Given the description of an element on the screen output the (x, y) to click on. 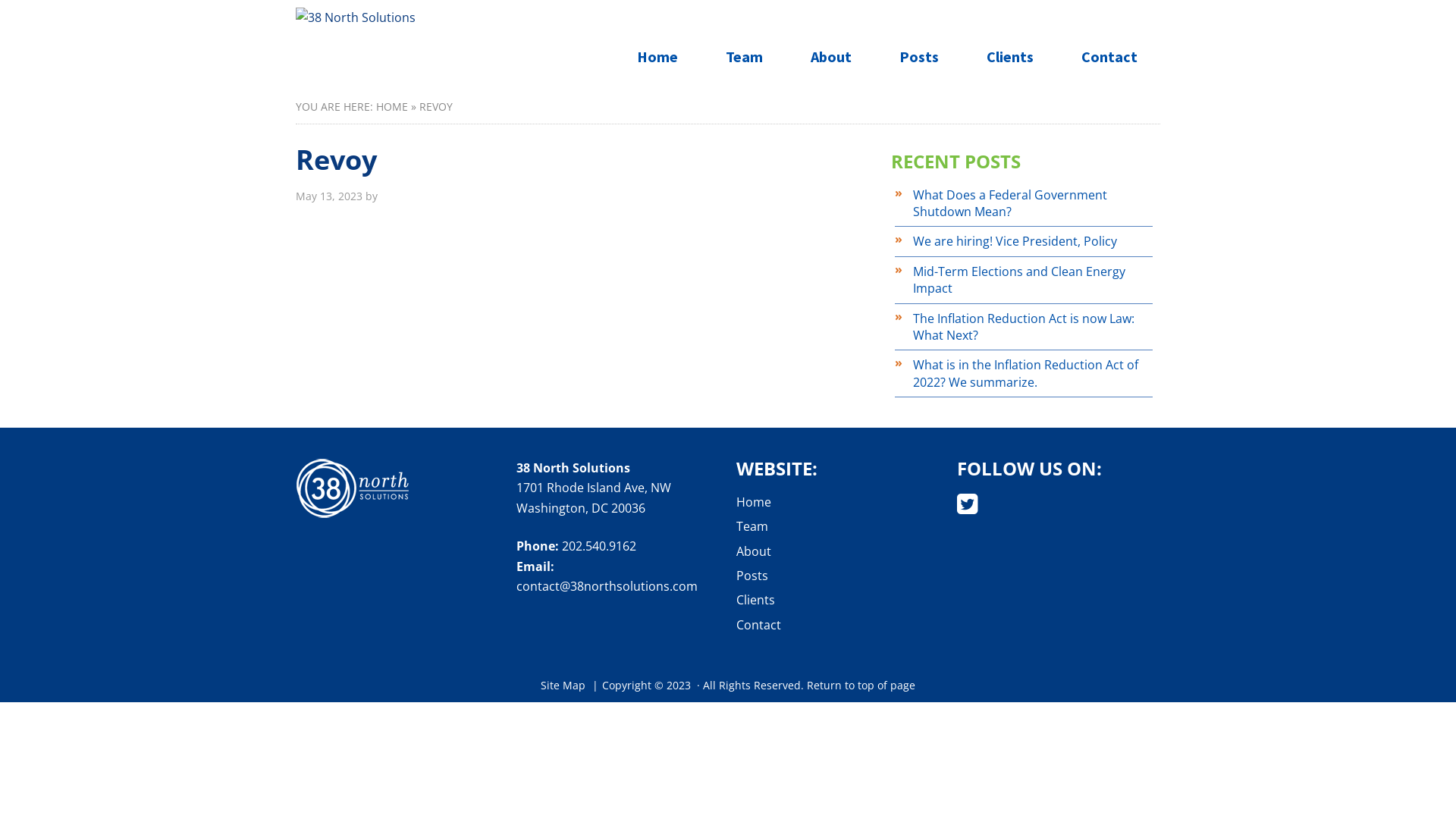
Home Element type: text (657, 56)
About Element type: text (830, 56)
Team Element type: text (743, 56)
Contact Element type: text (1109, 56)
Contact Element type: text (758, 624)
What Does a Federal Government Shutdown Mean? Element type: text (1010, 202)
Return to top of page Element type: text (860, 684)
Posts Element type: text (918, 56)
Mid-Term Elections and Clean Energy Impact Element type: text (1019, 279)
Clients Element type: text (1009, 56)
contact@38northsolutions.com Element type: text (606, 585)
38 North Solutions Element type: hover (355, 17)
The Inflation Reduction Act is now Law: What Next? Element type: text (1023, 325)
Clients Element type: text (755, 599)
Home Element type: text (753, 501)
Posts Element type: text (752, 575)
Site Map Element type: text (562, 684)
HOME Element type: text (391, 106)
About Element type: text (753, 550)
Team Element type: text (752, 525)
We are hiring! Vice President, Policy Element type: text (1015, 240)
